Given the description of an element on the screen output the (x, y) to click on. 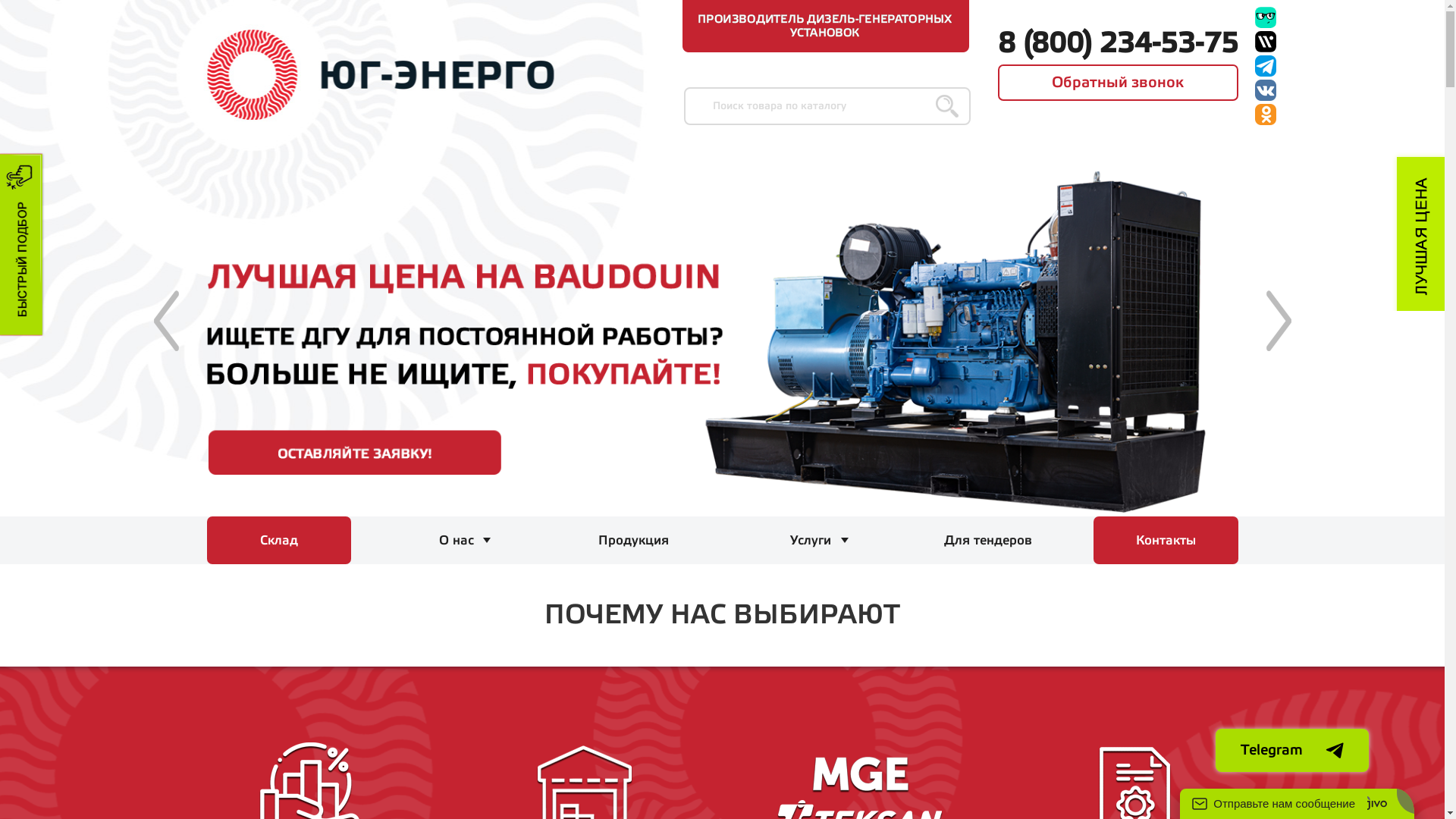
Next Element type: text (1278, 320)
  Element type: text (1264, 14)
Telegram Element type: text (1291, 749)
8 (800) 234-53-75 Element type: text (1117, 44)
  Element type: text (379, 74)
Previous Element type: text (165, 320)
  Element type: text (1264, 62)
  Element type: text (1264, 87)
  Element type: text (1264, 111)
  Element type: text (1418, 230)
  Element type: text (1264, 38)
